Given the description of an element on the screen output the (x, y) to click on. 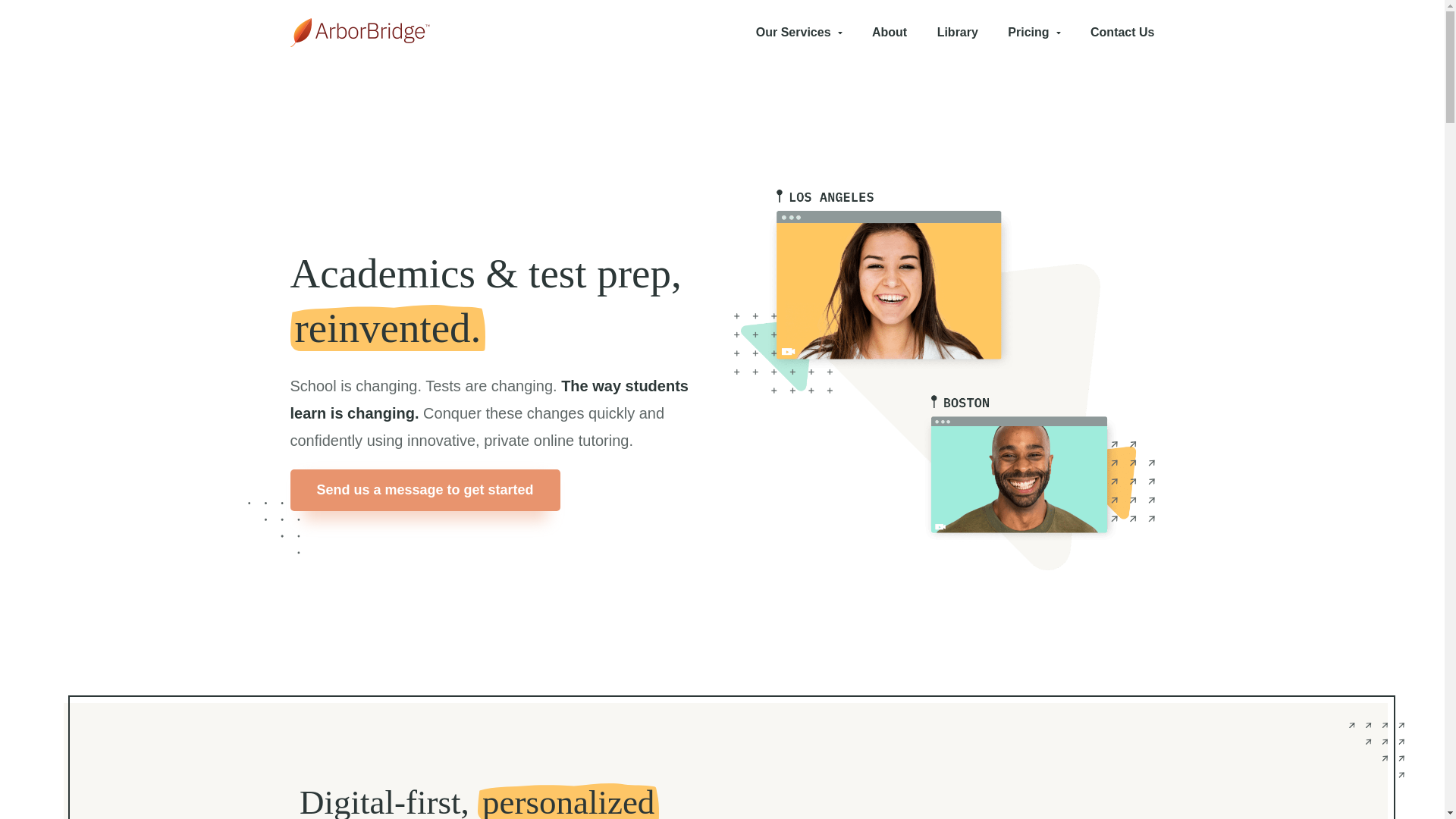
About (889, 31)
Pricing (1033, 31)
Send us a message to get started (424, 490)
Library (957, 31)
Our Services (799, 31)
Contact Us (1122, 31)
